Given the description of an element on the screen output the (x, y) to click on. 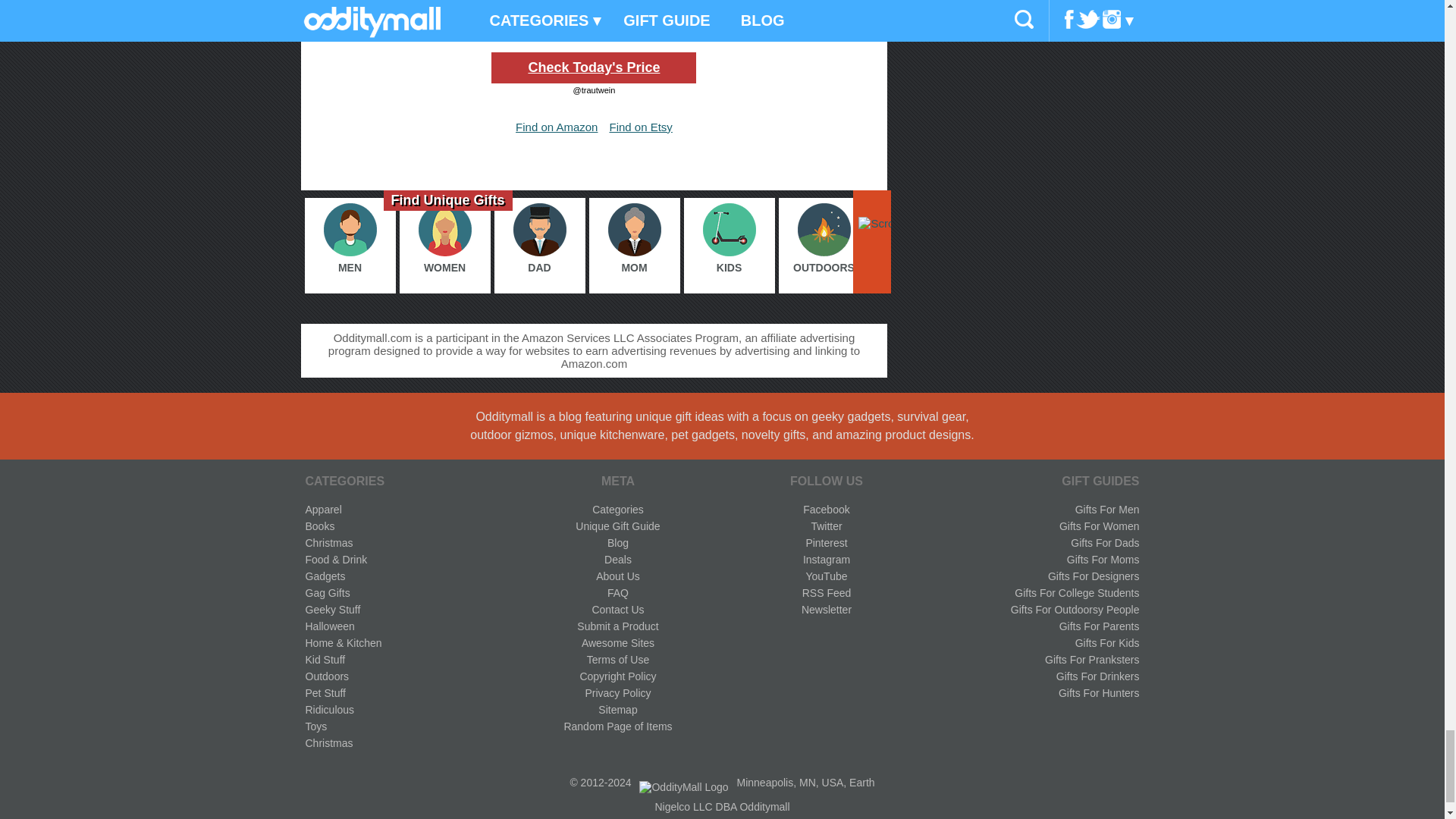
Find on Etsy (639, 126)
Find on Amazon (555, 126)
Check Today's Price (593, 67)
